Given the description of an element on the screen output the (x, y) to click on. 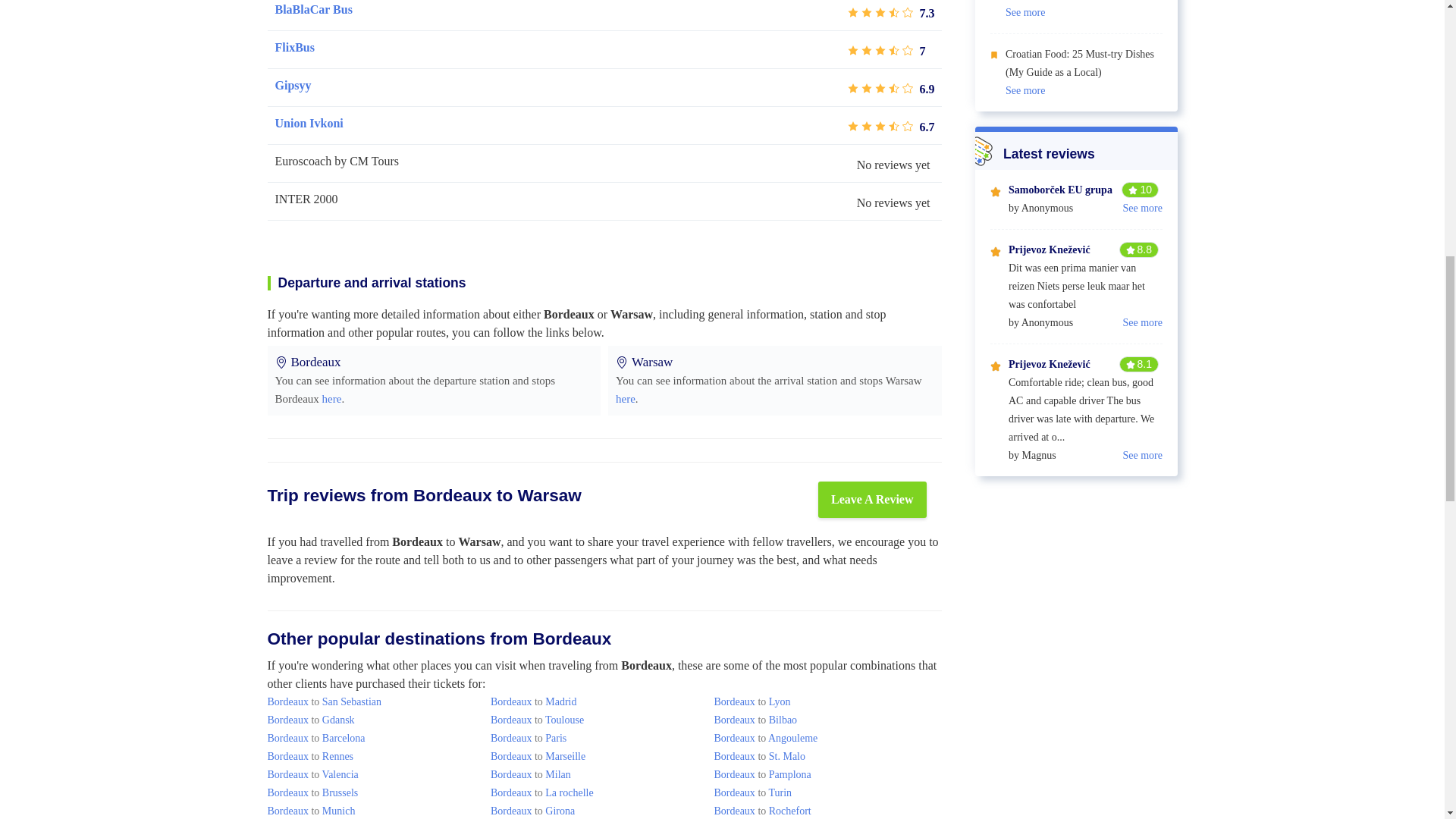
here (331, 398)
Bordeaux to Marseille (537, 756)
Bordeaux to Barcelona (315, 737)
FlixBus (294, 47)
Union Ivkoni (308, 123)
Bordeaux to Toulouse (536, 719)
Bordeaux to Paris (528, 737)
Bordeaux to San Sebastian (323, 701)
Leave A Review (872, 499)
Bordeaux to Gdansk (309, 719)
BlaBlaCar Bus (313, 9)
Bordeaux to Madrid (533, 701)
Gipsyy (293, 85)
Bordeaux to Angouleme (764, 737)
Bordeaux to Lyon (751, 701)
